Given the description of an element on the screen output the (x, y) to click on. 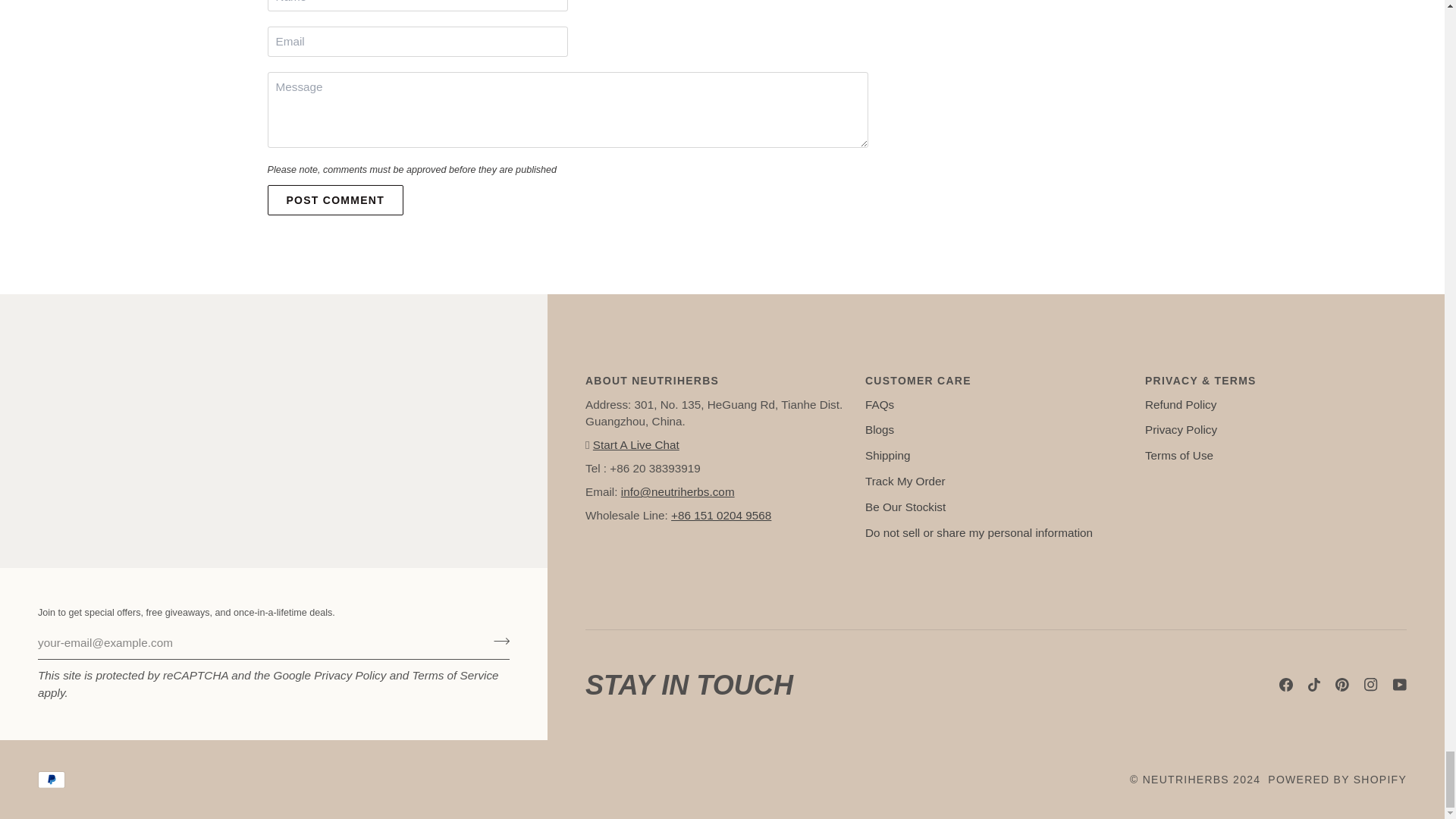
Instagram (1370, 684)
PAYPAL (51, 779)
Pinterest (1342, 684)
Facebook (1285, 684)
YouTube (1399, 684)
